Given the description of an element on the screen output the (x, y) to click on. 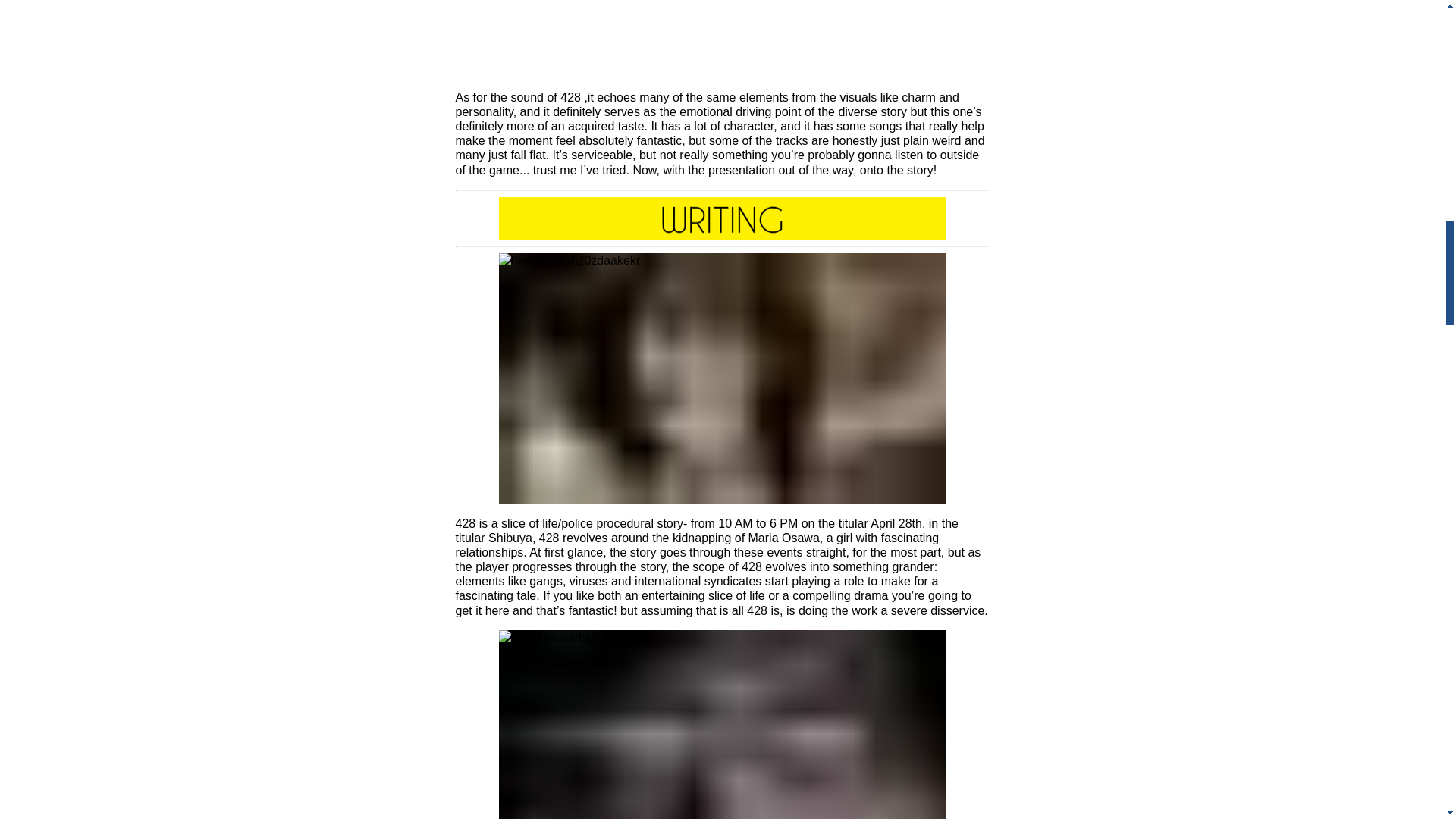
znpz1yxcoarlsgfukgww (722, 724)
m6bik4nibxx58ikytqrz (722, 218)
hewytmvxyh20zdaakekr (722, 378)
